Given the description of an element on the screen output the (x, y) to click on. 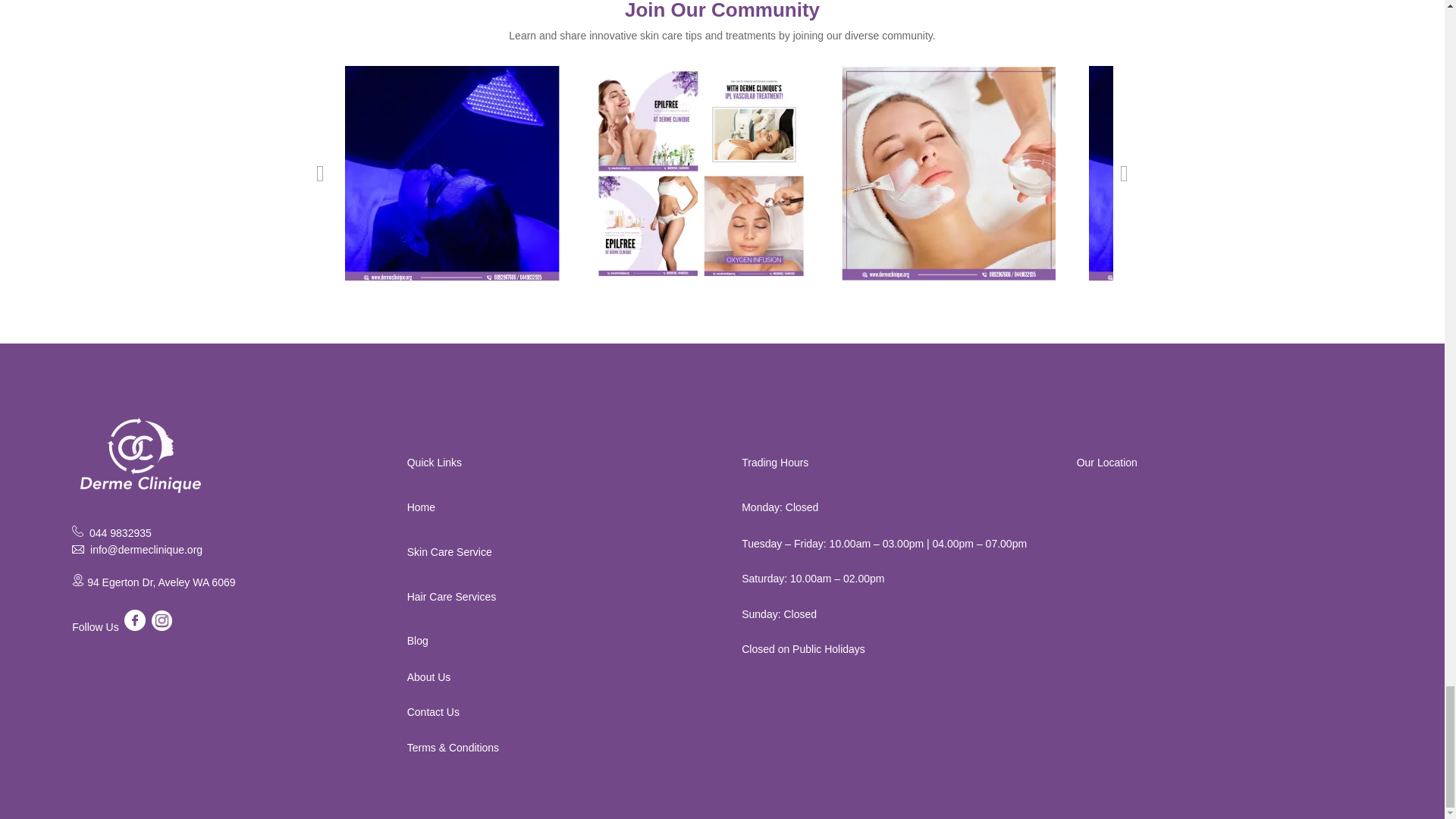
Logo (138, 453)
